Given the description of an element on the screen output the (x, y) to click on. 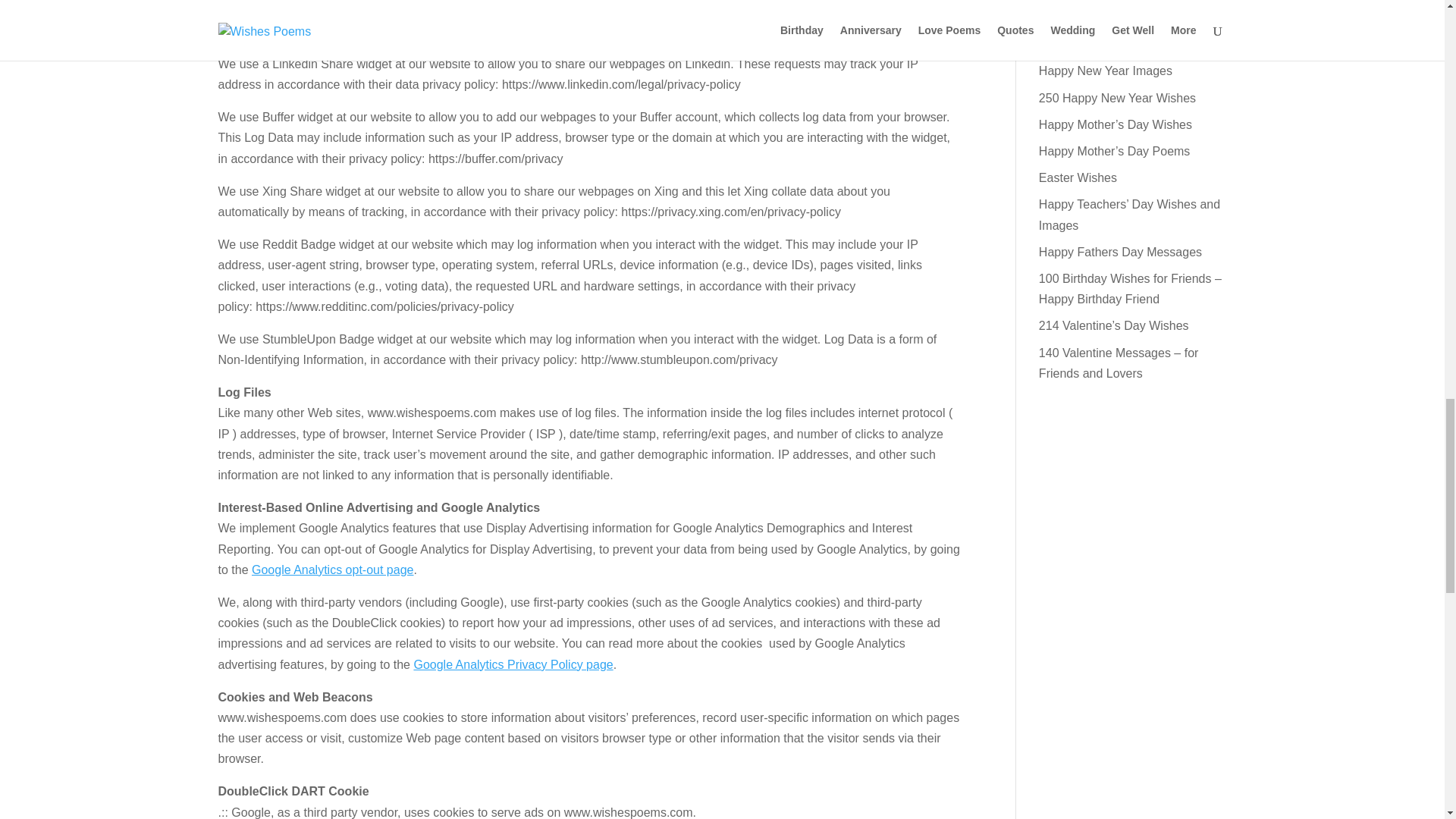
Google Analytics Privacy Policy page (512, 664)
Google Analytics opt-out page (332, 569)
